Given the description of an element on the screen output the (x, y) to click on. 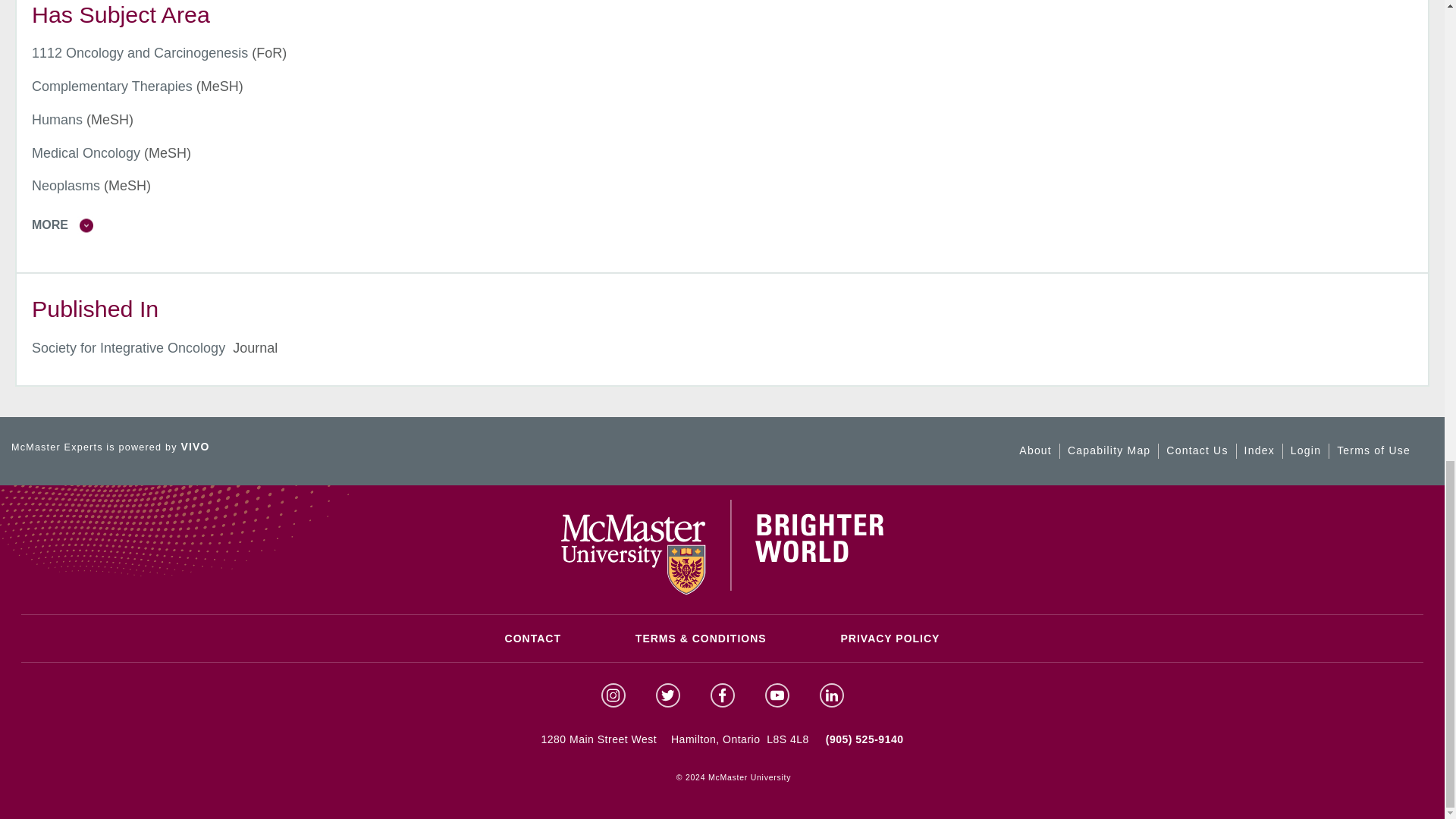
concept name (139, 52)
concept name (57, 119)
concept name (66, 185)
concept name (112, 86)
concept name (85, 152)
